Given the description of an element on the screen output the (x, y) to click on. 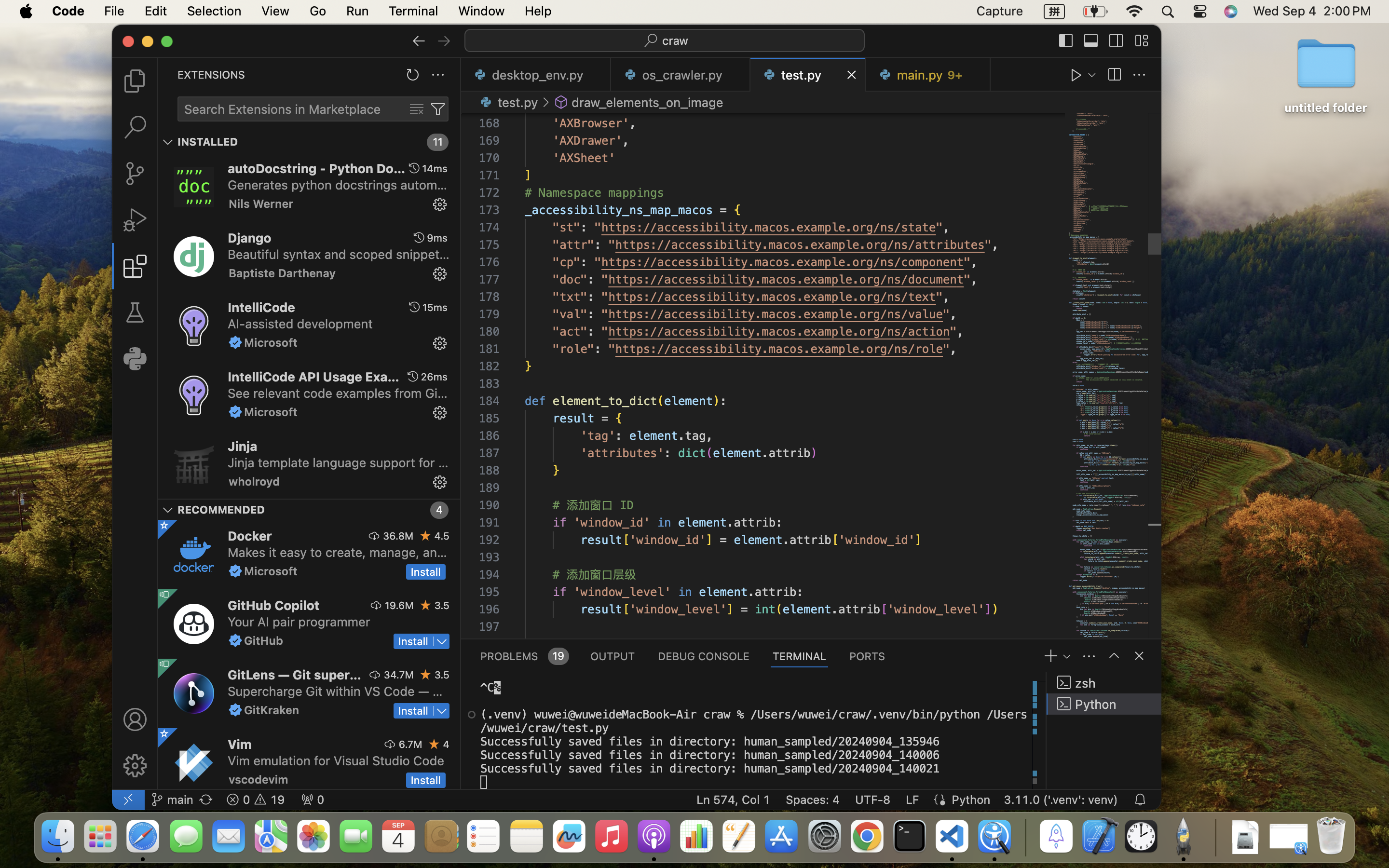
 Element type: AXButton (1140, 40)
11 Element type: AXStaticText (437, 141)
19.6M Element type: AXStaticText (398, 604)
0 PORTS Element type: AXRadioButton (867, 655)
vscodevim Element type: AXStaticText (258, 779)
